Given the description of an element on the screen output the (x, y) to click on. 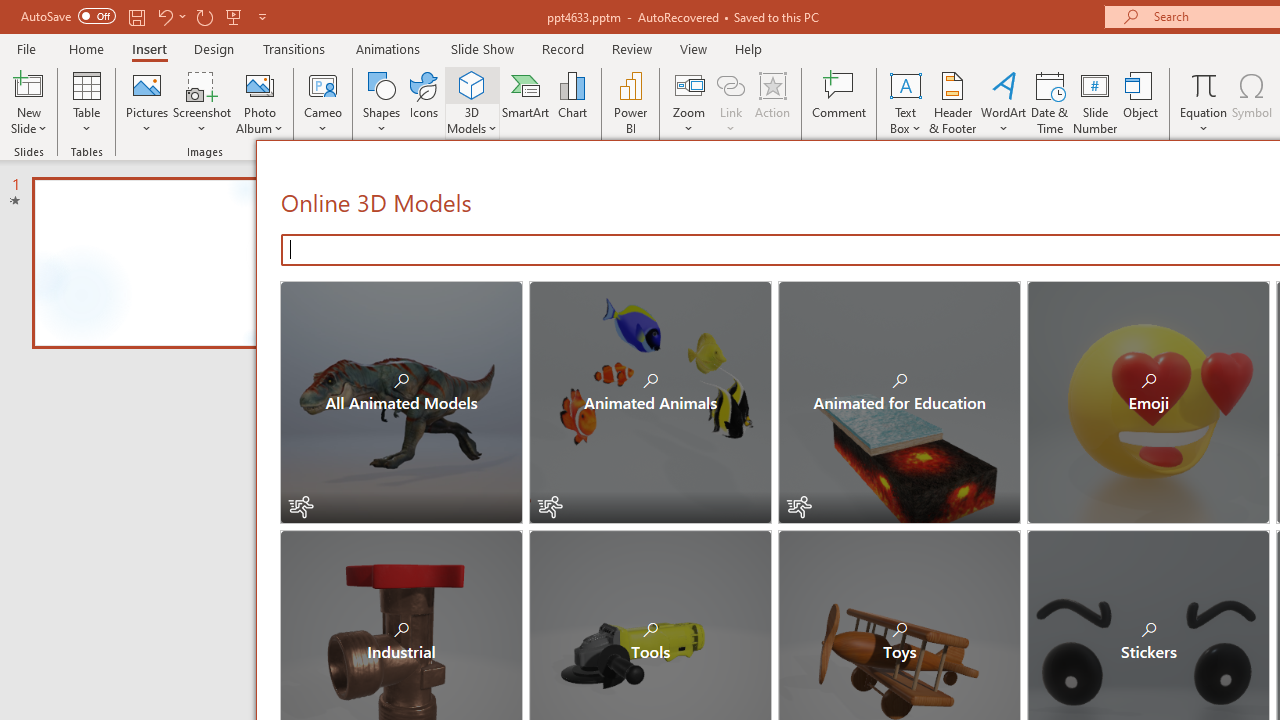
Photo Album... (259, 102)
Animated Animals (649, 402)
New Photo Album... (259, 84)
Comment (839, 102)
Link (731, 84)
Equation (1203, 84)
Animated for Education (899, 402)
Screenshot (202, 102)
